Given the description of an element on the screen output the (x, y) to click on. 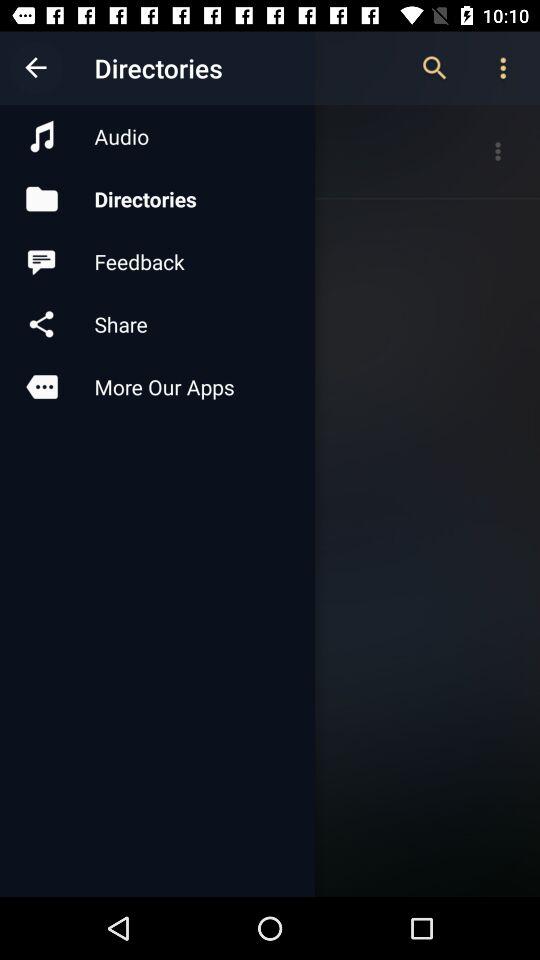
press feedback icon (157, 261)
